Given the description of an element on the screen output the (x, y) to click on. 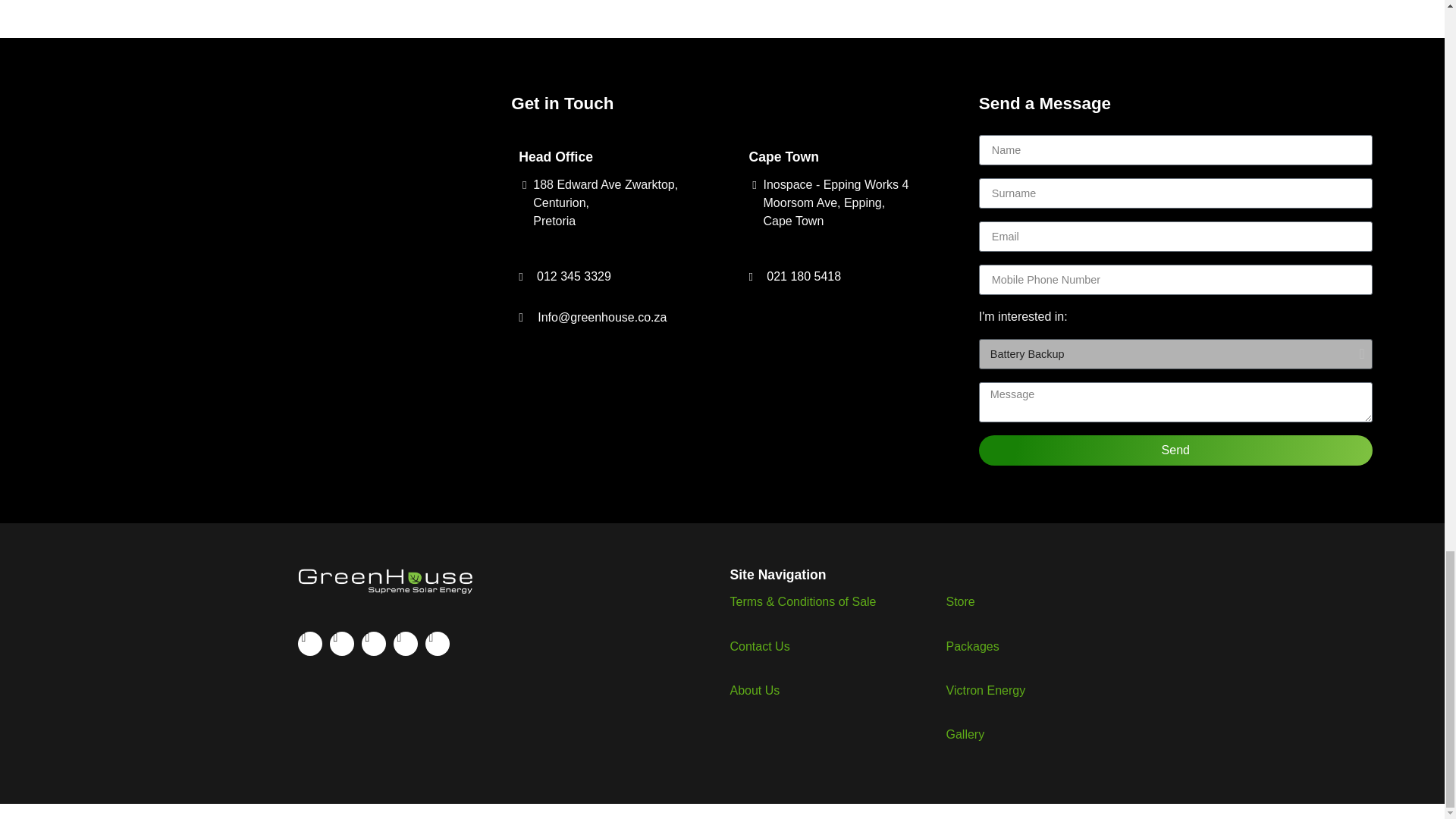
Contact Us (759, 645)
Victron Energy (986, 689)
Send (1175, 450)
021 180 5418 (844, 276)
About Us (753, 689)
012 345 3329 (614, 276)
Store (960, 601)
Packages (972, 645)
